Given the description of an element on the screen output the (x, y) to click on. 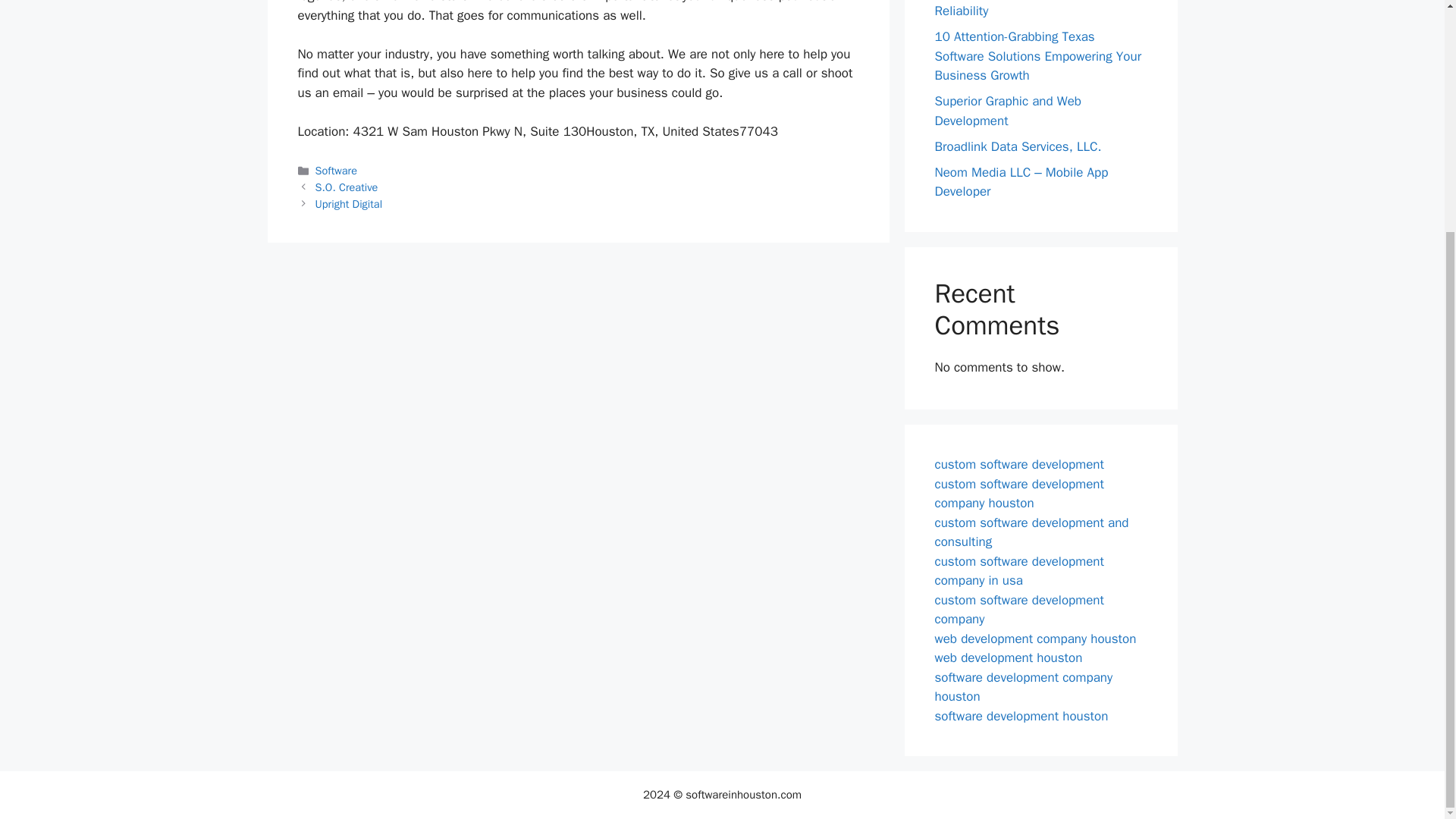
custom software development (1018, 464)
custom software development company houston (1018, 493)
Superior Graphic and Web Development (1007, 110)
software development houston (1021, 715)
custom software development company in usa (1018, 570)
custom software development company (1018, 610)
Software (335, 170)
Broadlink Data Services, LLC. (1017, 145)
S.O. Creative (346, 187)
software development company houston (1023, 687)
